Given the description of an element on the screen output the (x, y) to click on. 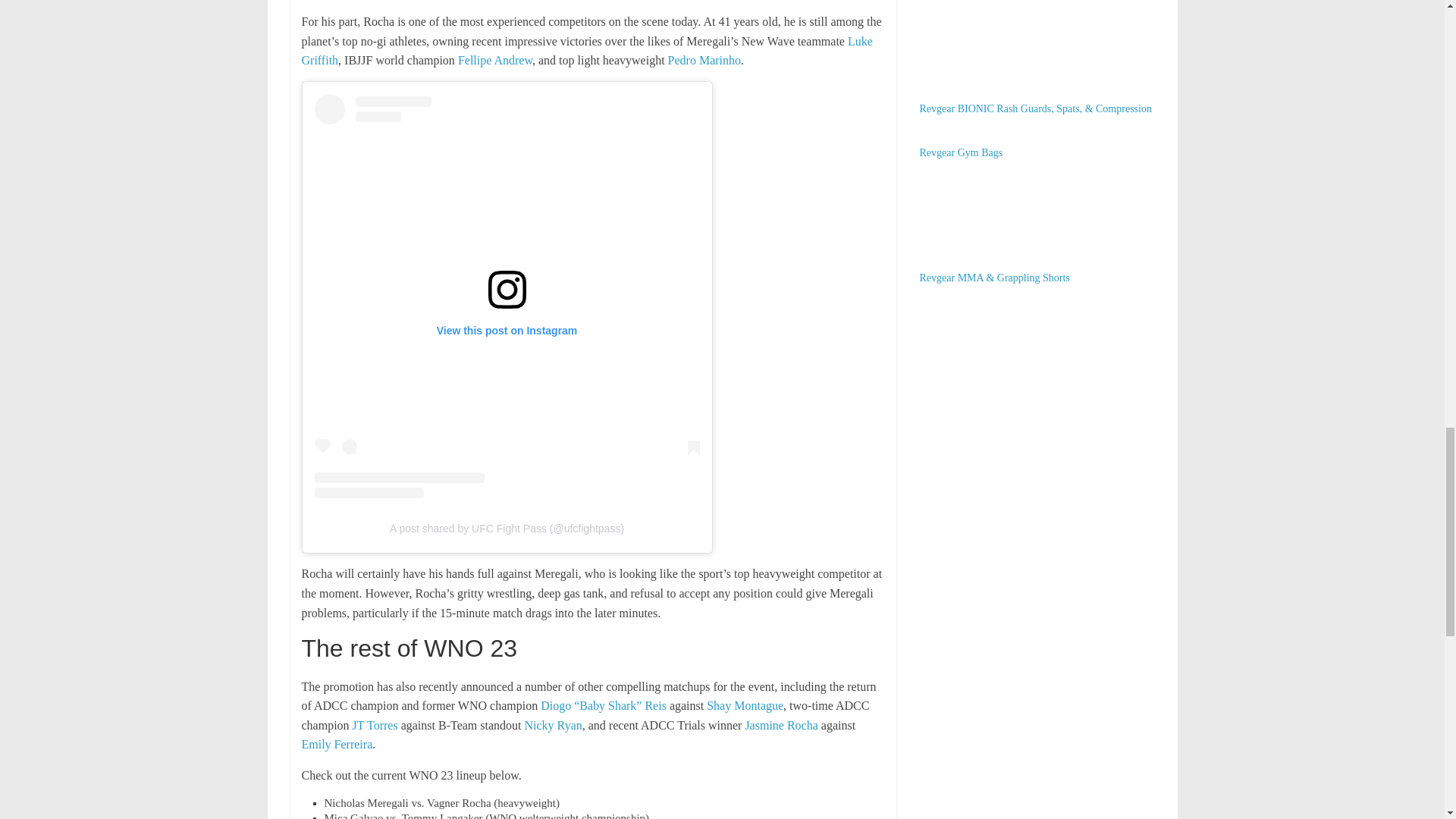
Luke Griffith (586, 51)
